Given the description of an element on the screen output the (x, y) to click on. 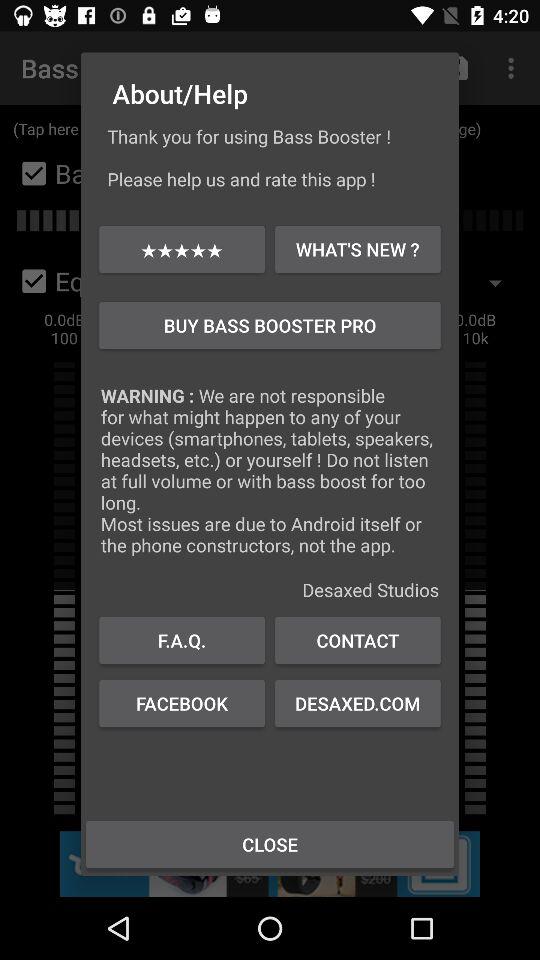
swipe to f.a.q. (182, 639)
